Given the description of an element on the screen output the (x, y) to click on. 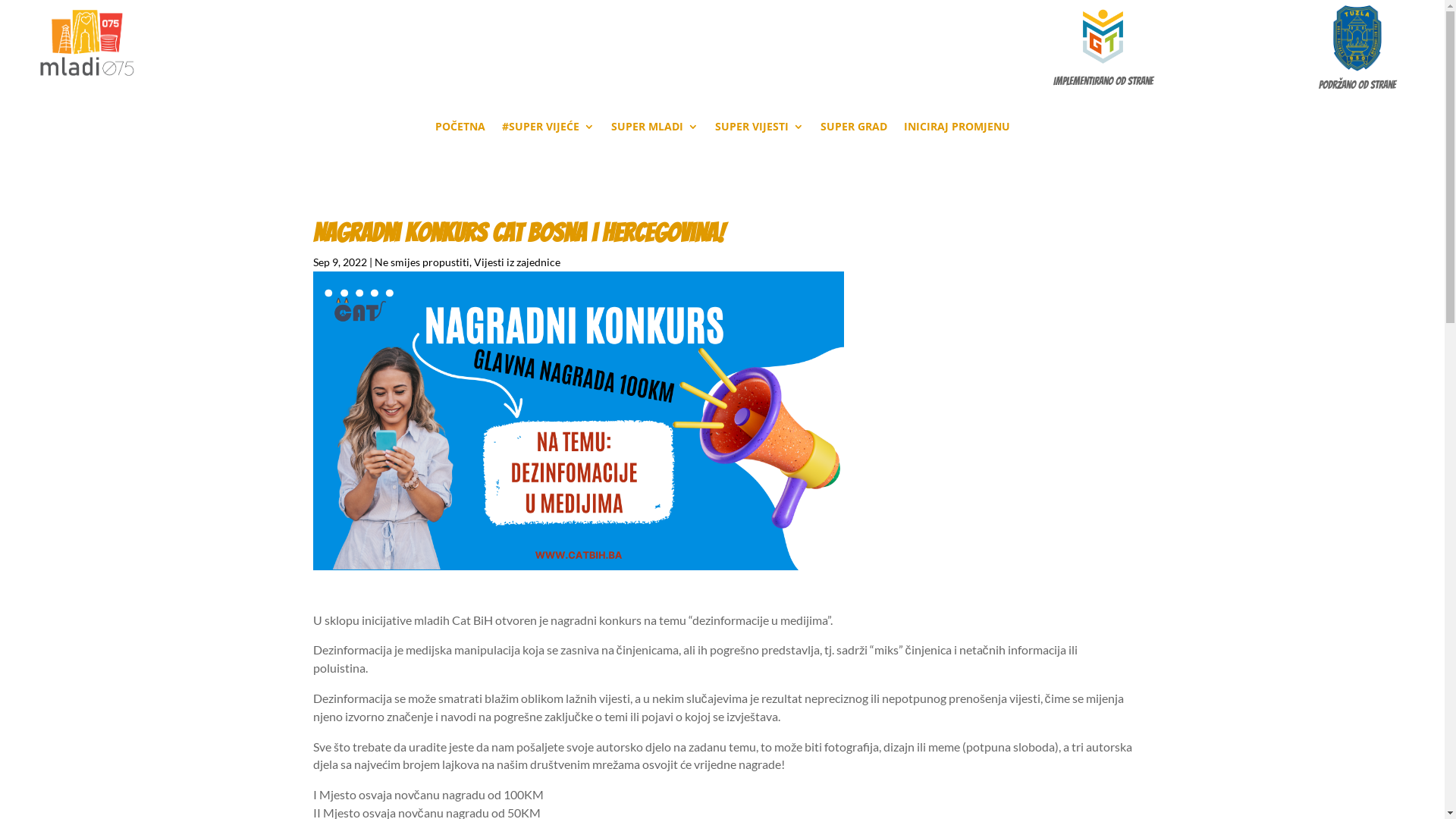
TUZLA Element type: hover (1357, 38)
SUPER GRAD Element type: text (853, 129)
cat vmgt Element type: hover (577, 420)
INICIRAJ PROMJENU Element type: text (956, 129)
SUPER VIJESTI Element type: text (758, 129)
Vijesti iz zajednice Element type: text (516, 261)
mladi_logo_2 Element type: hover (87, 42)
SUPER MLADI Element type: text (654, 129)
gvt-logo Element type: hover (1102, 36)
Ne smijes propustiti Element type: text (421, 261)
